Given the description of an element on the screen output the (x, y) to click on. 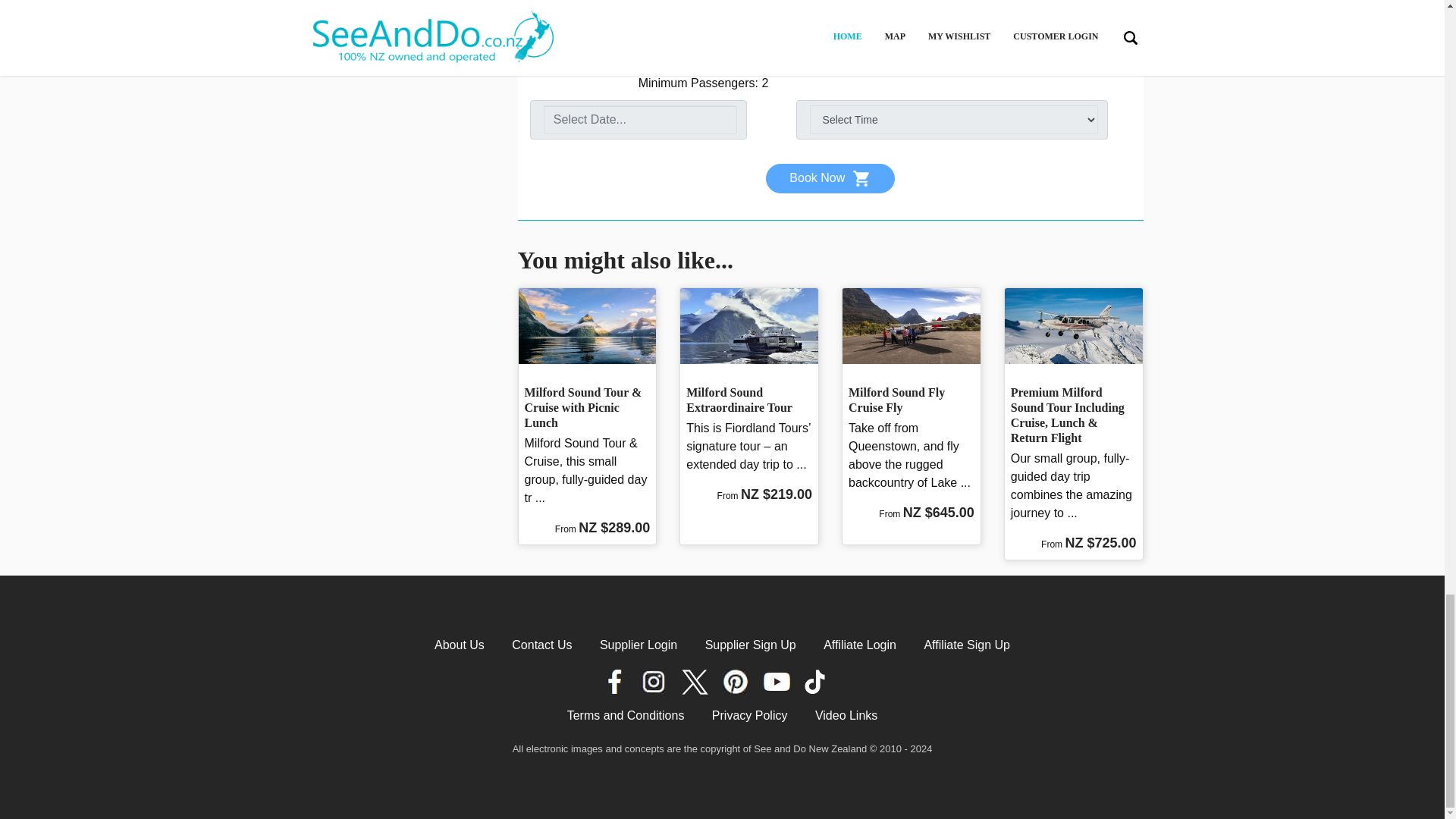
0 (1076, 20)
